Given the description of an element on the screen output the (x, y) to click on. 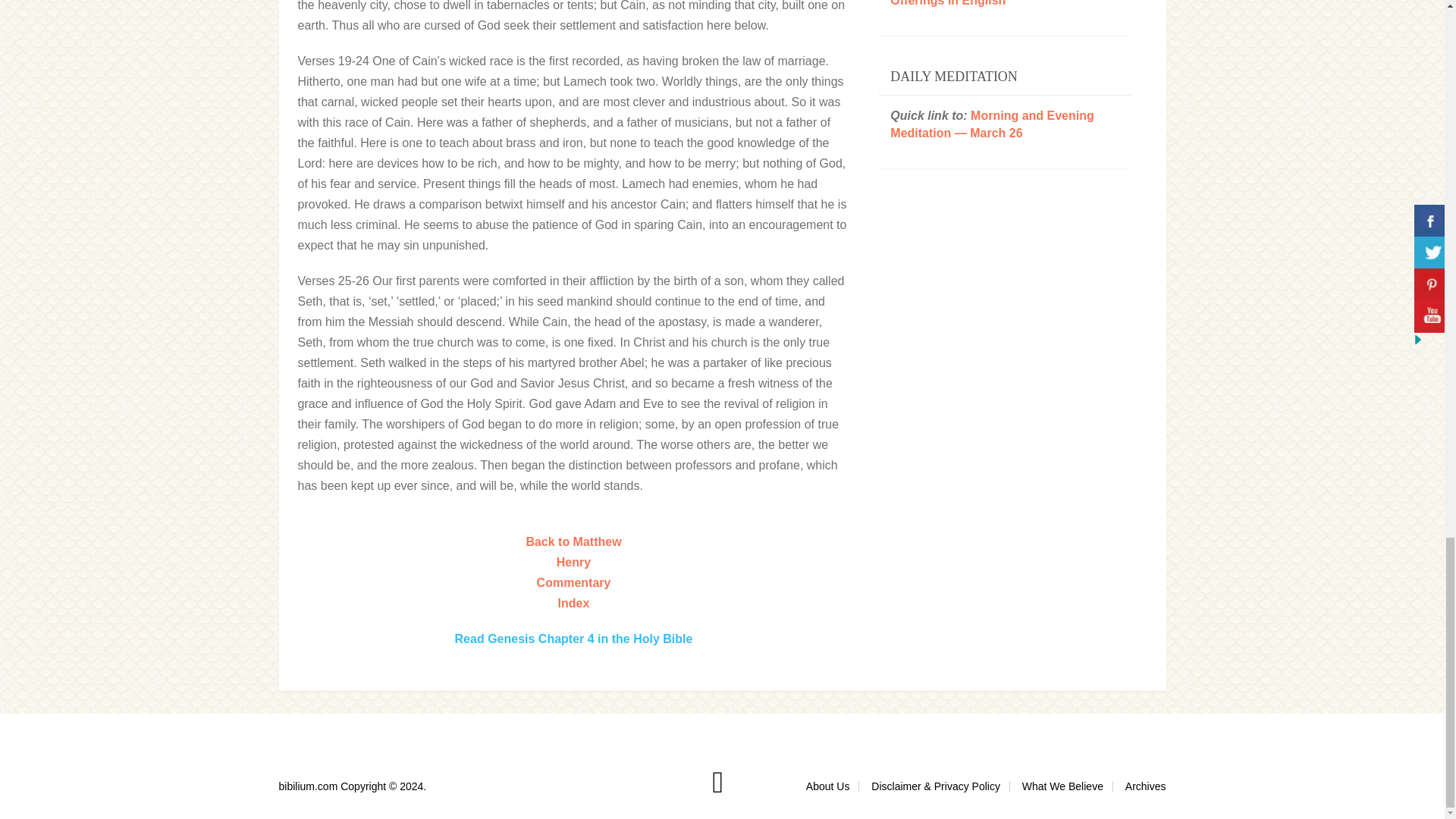
Genesis Chapter 3 (410, 567)
Genesis Chapter 3 (527, 521)
Genesis Chapter 5 (538, 521)
Genesis Chapter 5 (734, 567)
